Given the description of an element on the screen output the (x, y) to click on. 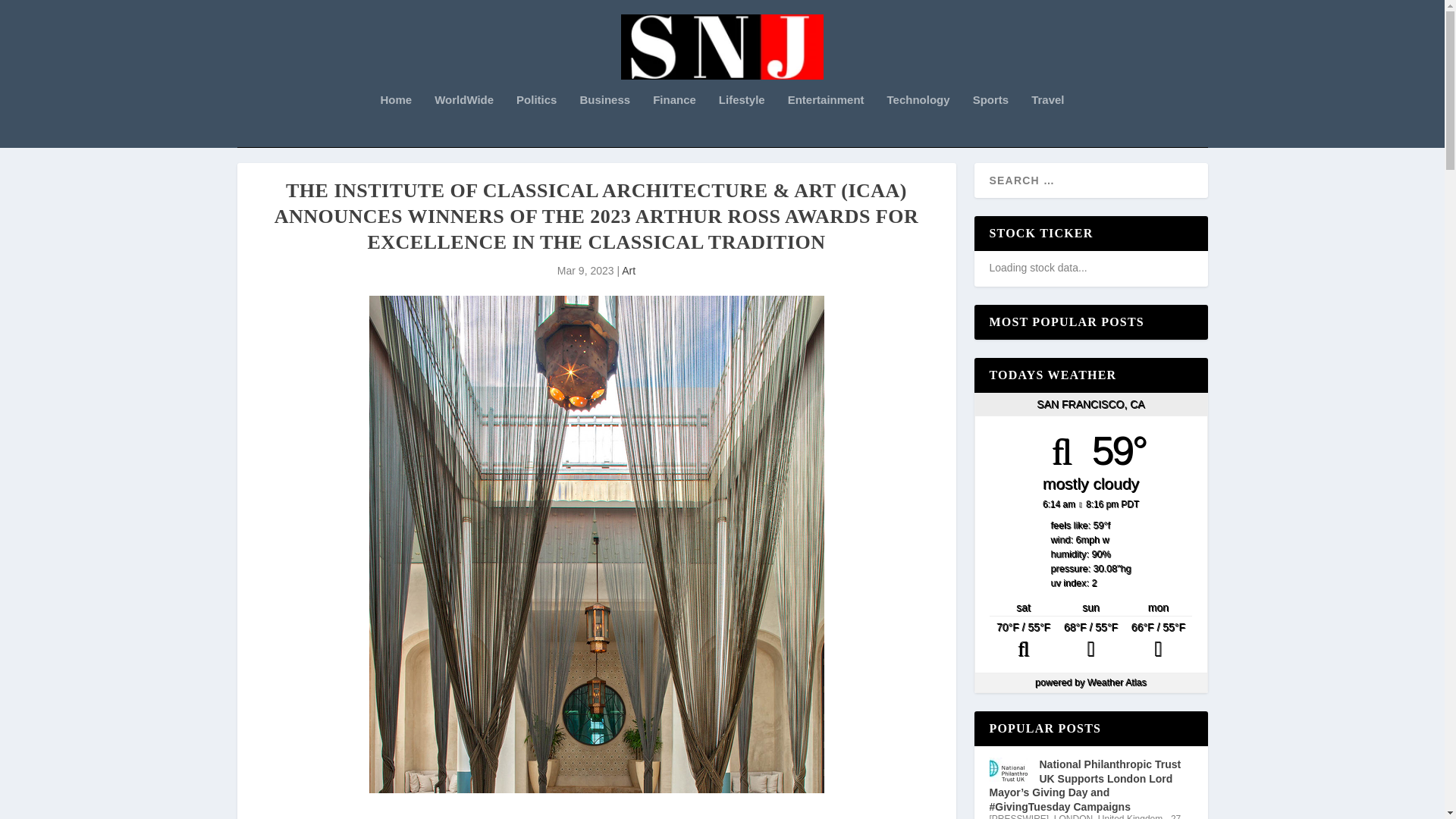
Search (31, 13)
Technology (918, 120)
Entertainment (825, 120)
Art (627, 270)
WorldWide (463, 120)
Business (604, 120)
